Given the description of an element on the screen output the (x, y) to click on. 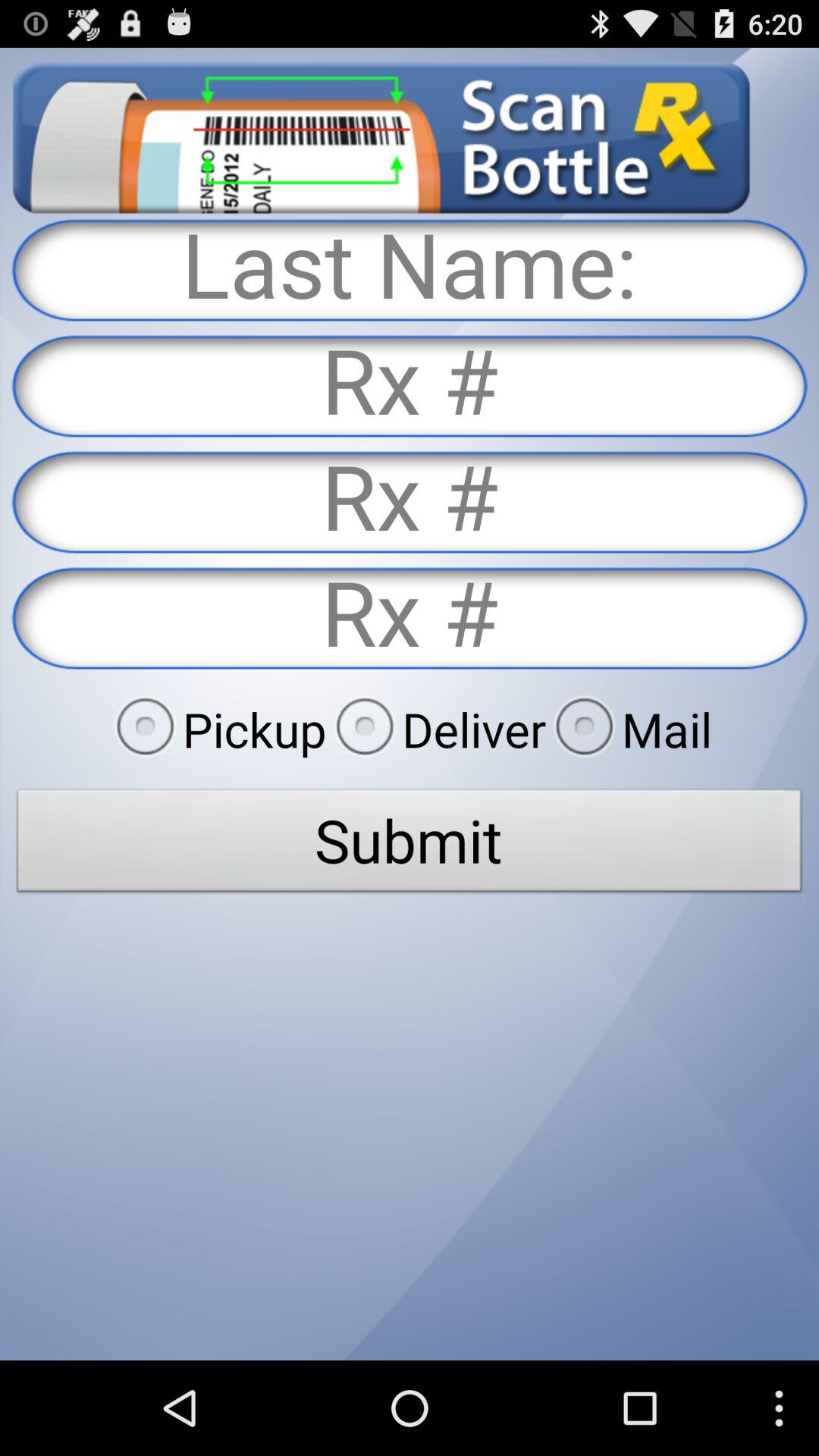
tap pickup on the left (216, 728)
